Given the description of an element on the screen output the (x, y) to click on. 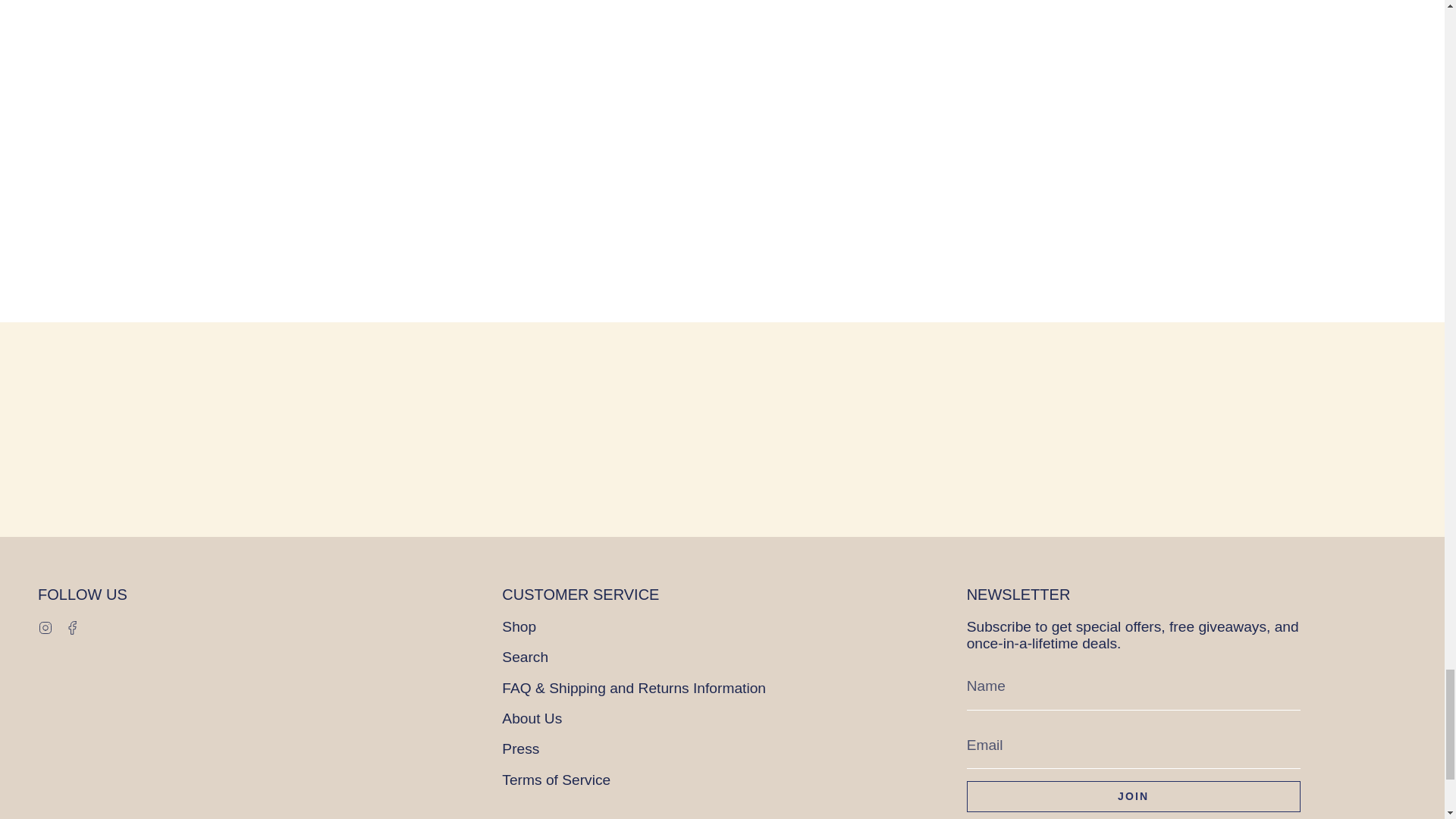
Contact Us (1252, 443)
Shelly Purdy on Facebook (72, 626)
Shelly Purdy on Instagram (44, 626)
Contact Us (575, 443)
